Given the description of an element on the screen output the (x, y) to click on. 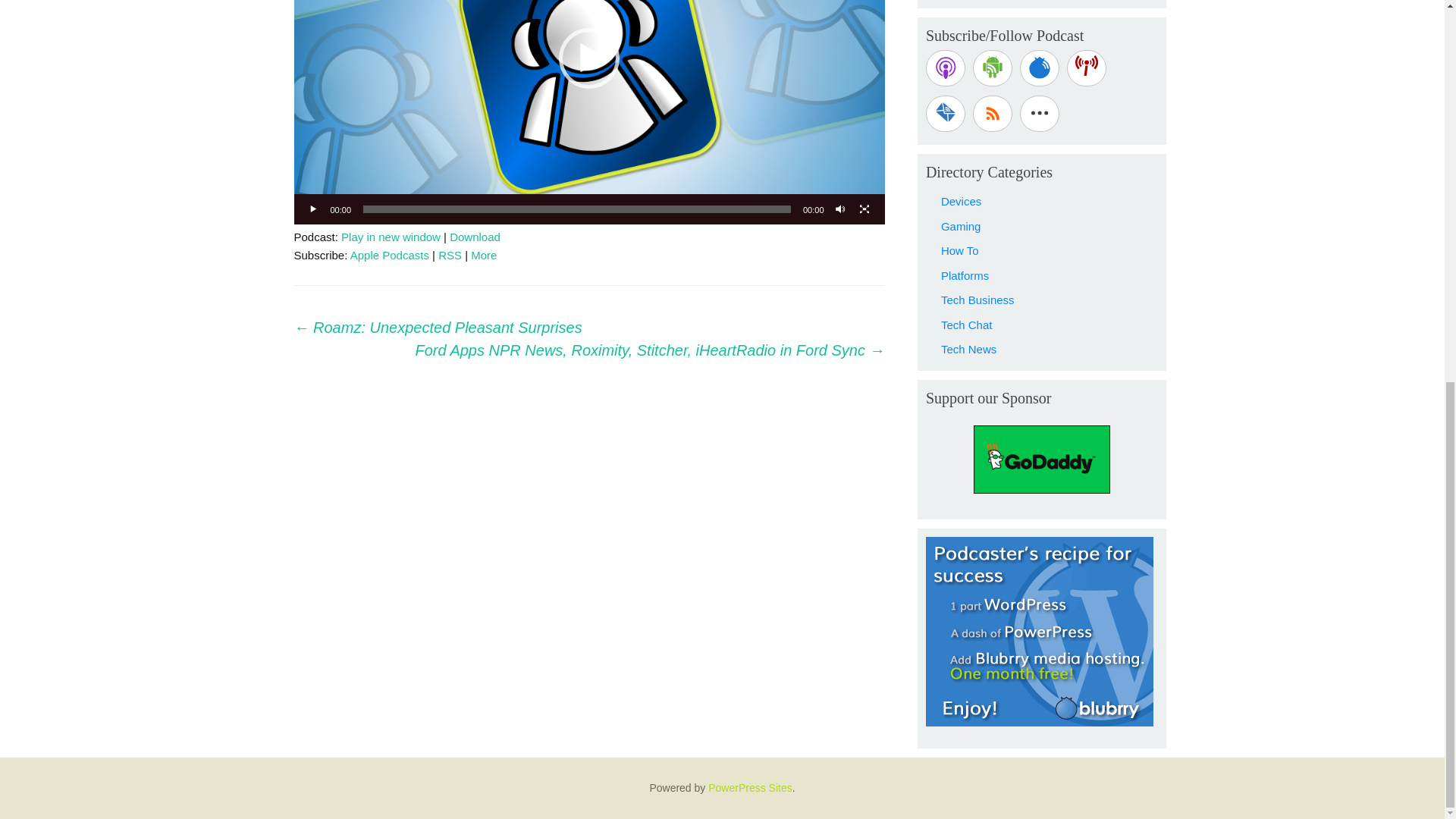
Download (474, 236)
More (483, 254)
Play in new window (390, 236)
Apple Podcasts (389, 254)
More (483, 254)
Subscribe on Apple Podcasts (945, 67)
Subscribe on Android (991, 67)
Download (474, 236)
RSS (449, 254)
Play in new window (390, 236)
